Given the description of an element on the screen output the (x, y) to click on. 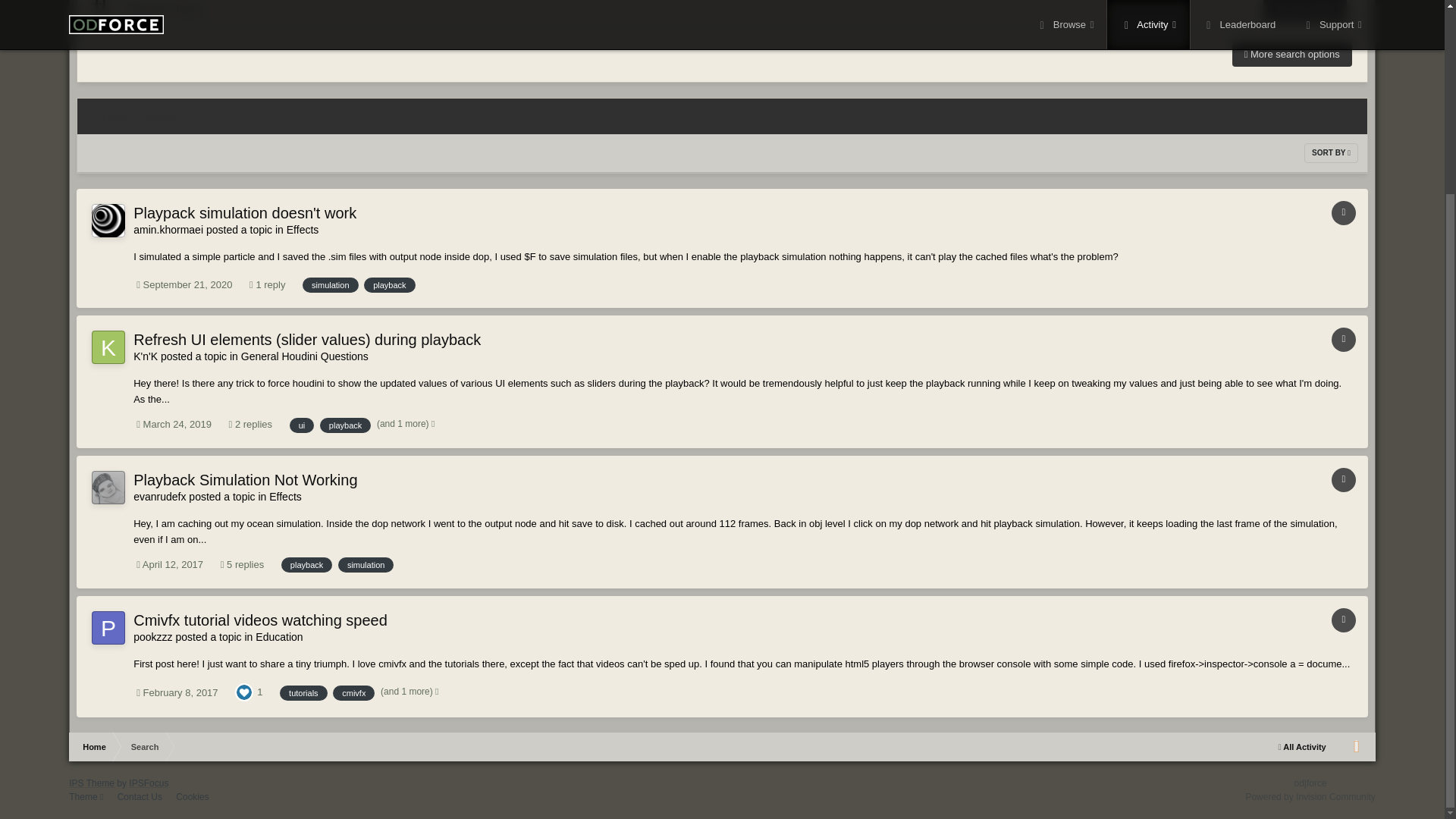
Search Again (1304, 11)
Go to amin.khormaei's profile (108, 220)
Find other content tagged with 'playback' (345, 425)
Topic (1343, 339)
Go to K'n'K's profile (145, 356)
Topic (1343, 212)
Find other content tagged with 'simulation' (330, 284)
Find other content tagged with 'ui' (301, 425)
Go to K'n'K's profile (108, 346)
Find other content tagged with 'playback' (389, 284)
